Given the description of an element on the screen output the (x, y) to click on. 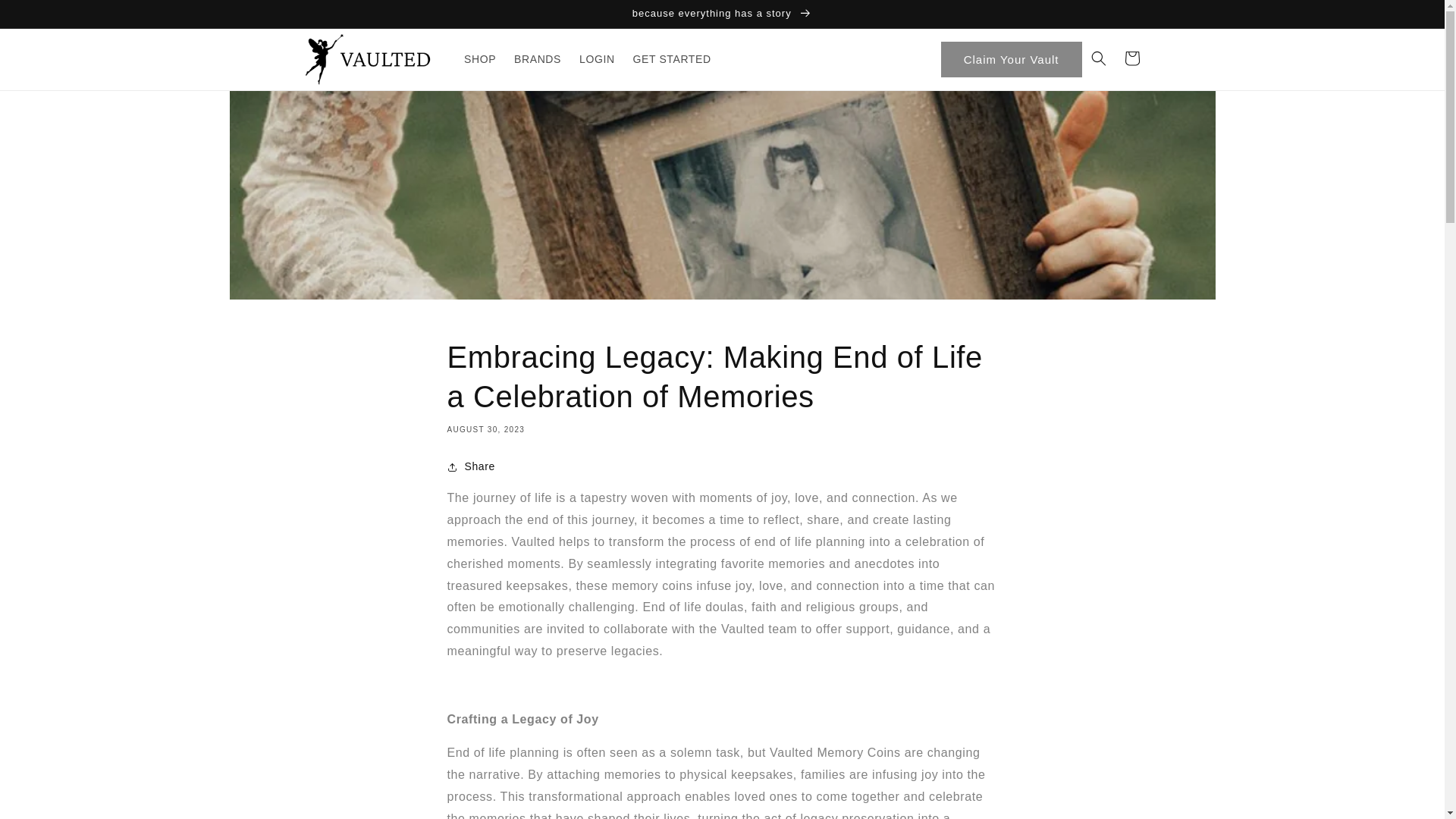
GET STARTED (672, 59)
Cart (1131, 58)
BRANDS (537, 59)
LOGIN (597, 59)
Claim Your Vault (1010, 58)
SHOP (479, 59)
Skip to content (45, 17)
